Given the description of an element on the screen output the (x, y) to click on. 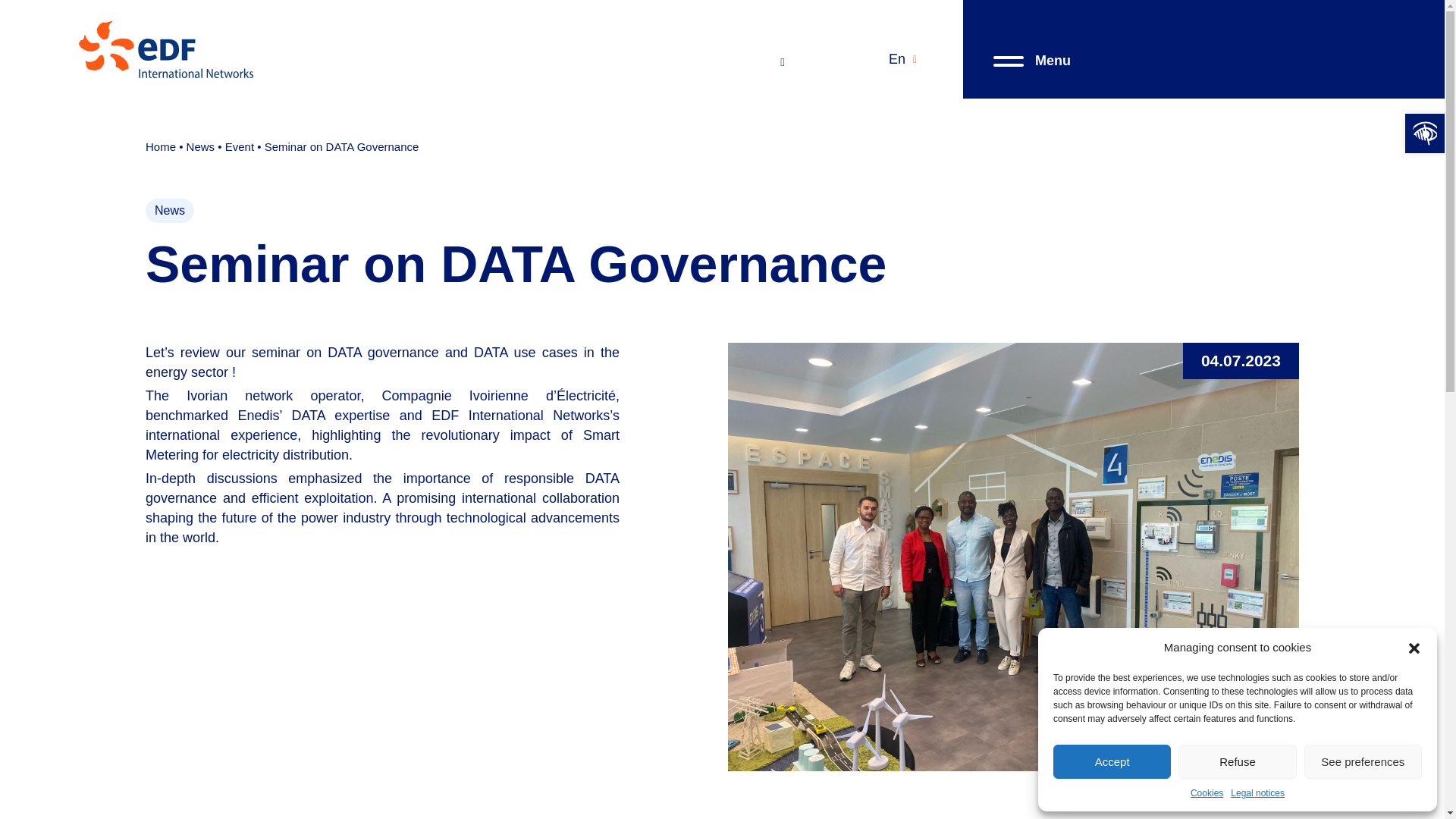
En (902, 59)
Legal notices (1257, 793)
Refuse (1236, 761)
Accept (1111, 761)
See preferences (1363, 761)
Cookies (1207, 793)
